Given the description of an element on the screen output the (x, y) to click on. 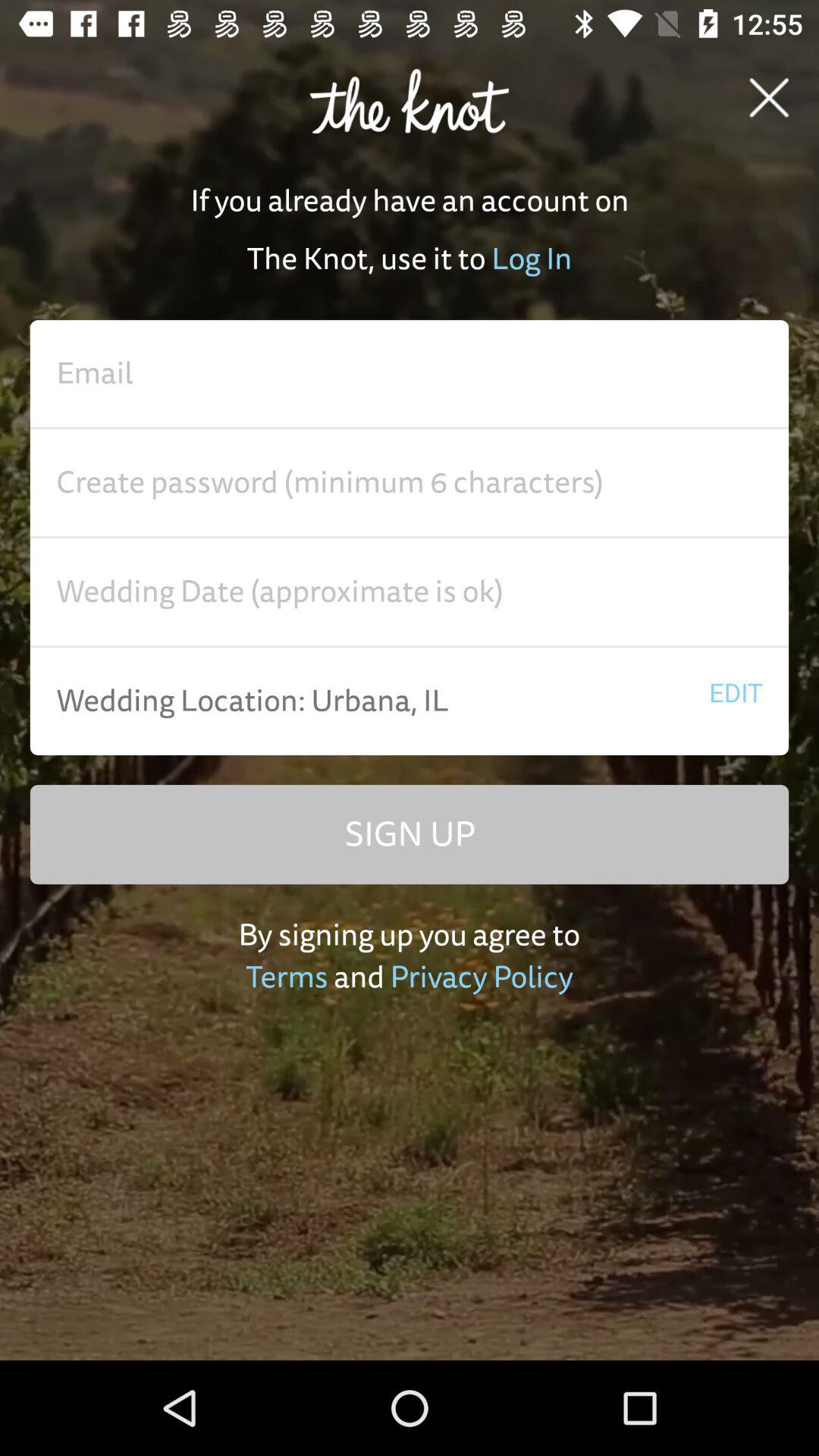
creat a new account (409, 592)
